Given the description of an element on the screen output the (x, y) to click on. 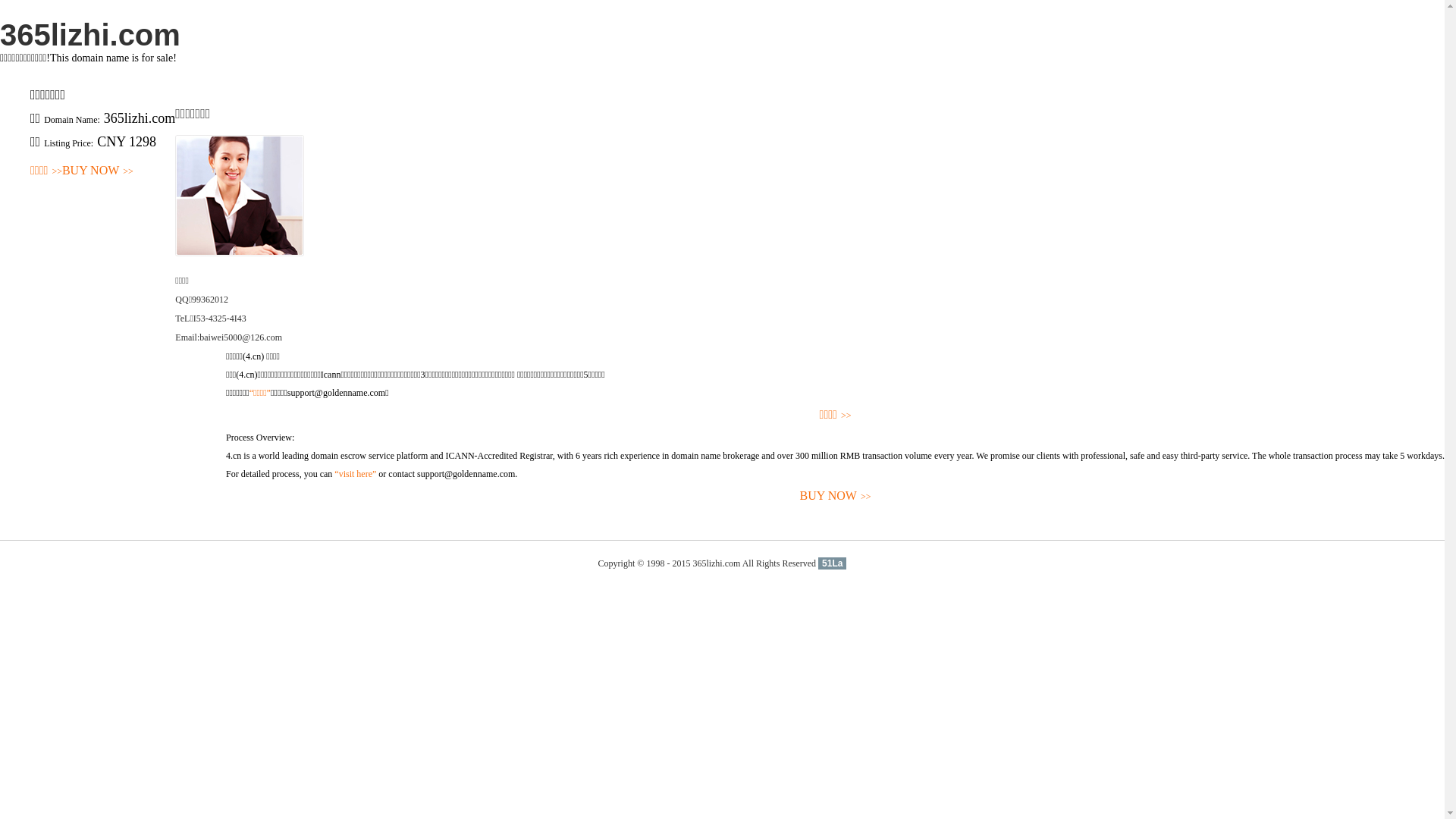
BUY NOW>> Element type: text (834, 496)
BUY NOW>> Element type: text (97, 170)
51La Element type: text (832, 563)
